Given the description of an element on the screen output the (x, y) to click on. 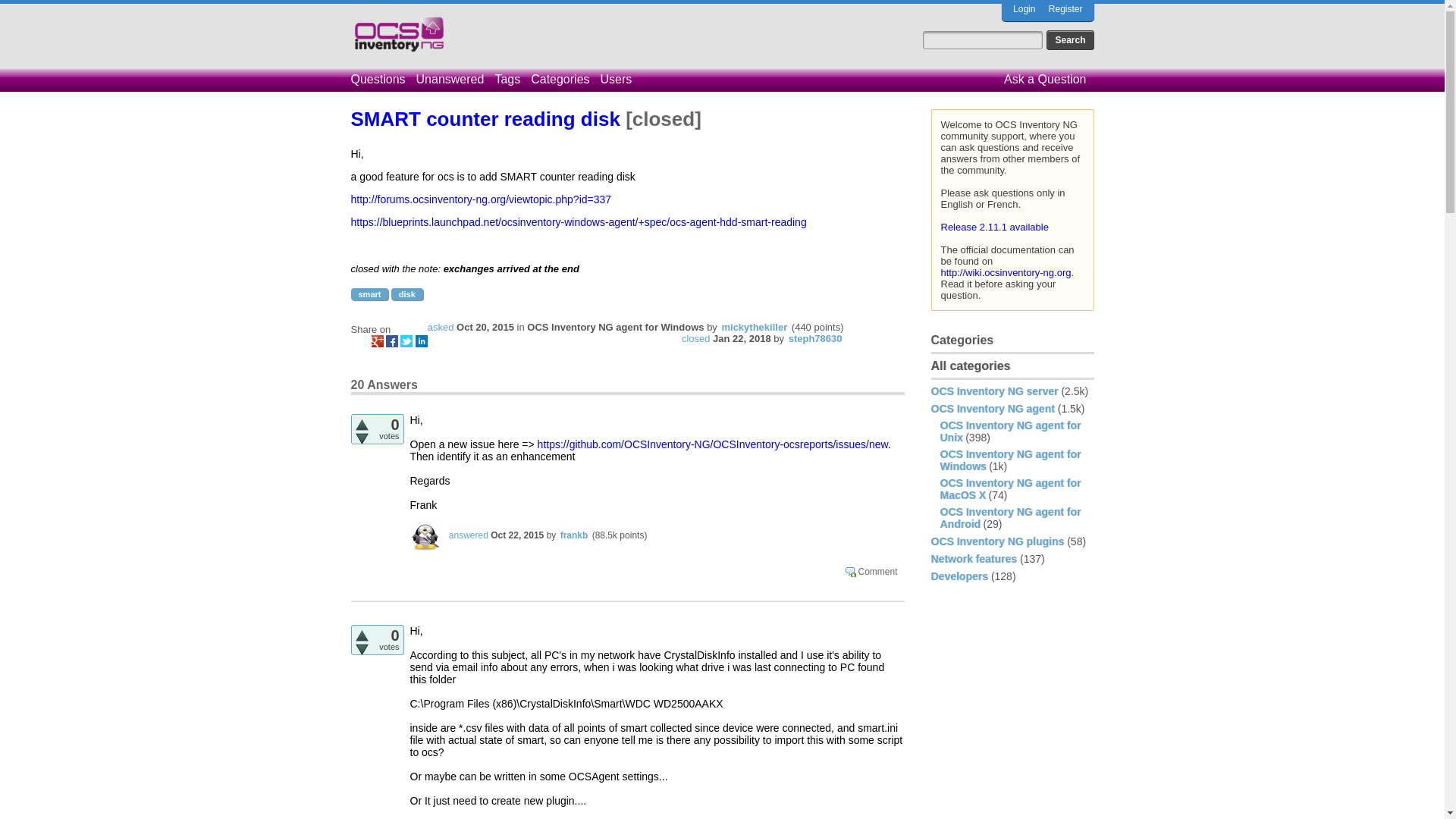
steph78630 (815, 337)
asked (441, 326)
Click to vote up (361, 424)
Unanswered (454, 78)
SMART counter reading disk (488, 118)
mickythekiller (754, 326)
OCS Inventory NG agent for Windows (615, 326)
Search (1069, 39)
share on tw (406, 340)
OCS Inventory NG agent (992, 408)
